Given the description of an element on the screen output the (x, y) to click on. 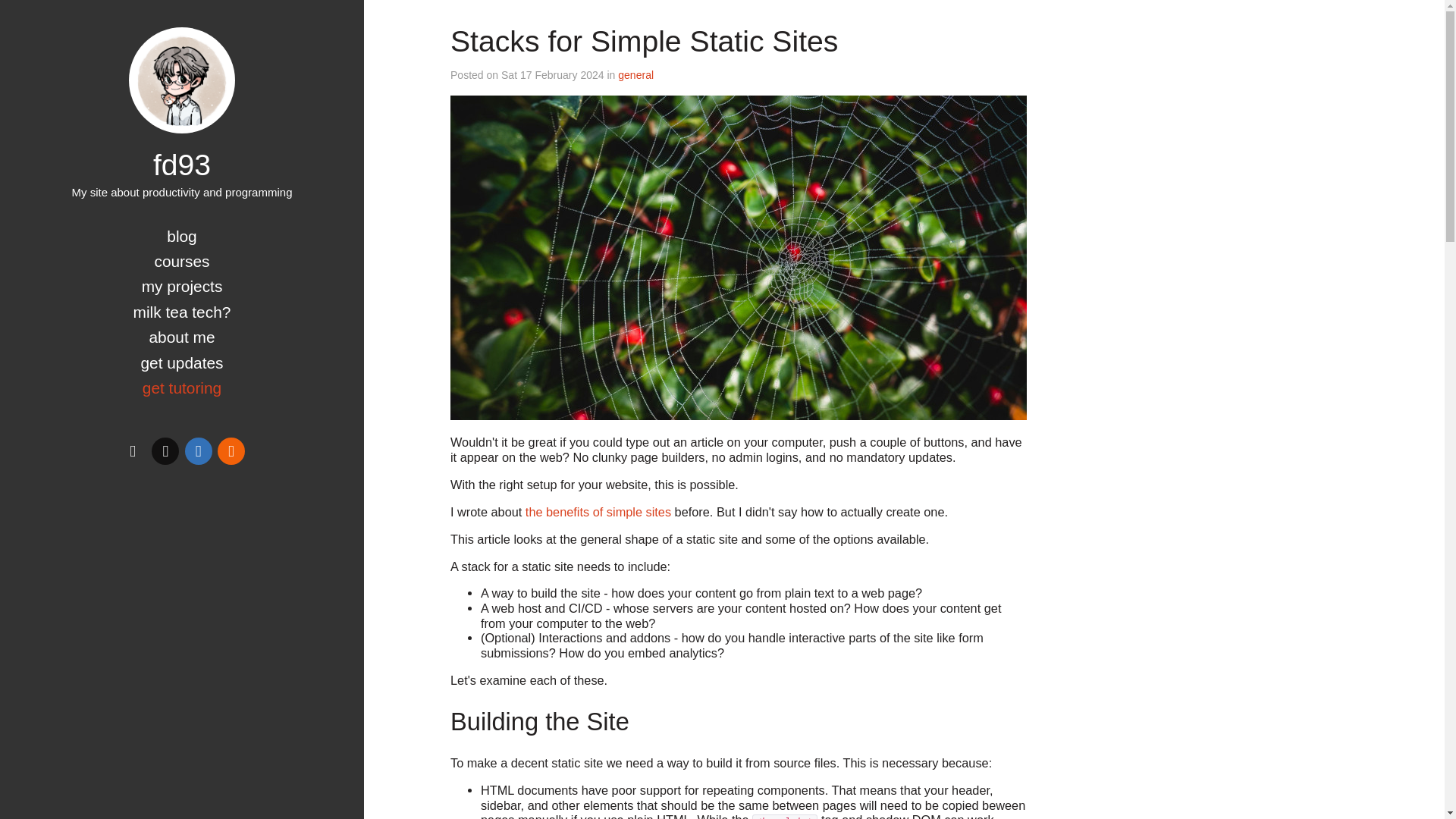
get tutoring (181, 387)
courses (181, 261)
milk tea tech? (182, 312)
fd93 (181, 80)
about me (181, 336)
the benefits of simple sites (598, 511)
fd93 (181, 164)
get updates (180, 362)
blog (181, 235)
general (635, 74)
my projects (181, 285)
